Given the description of an element on the screen output the (x, y) to click on. 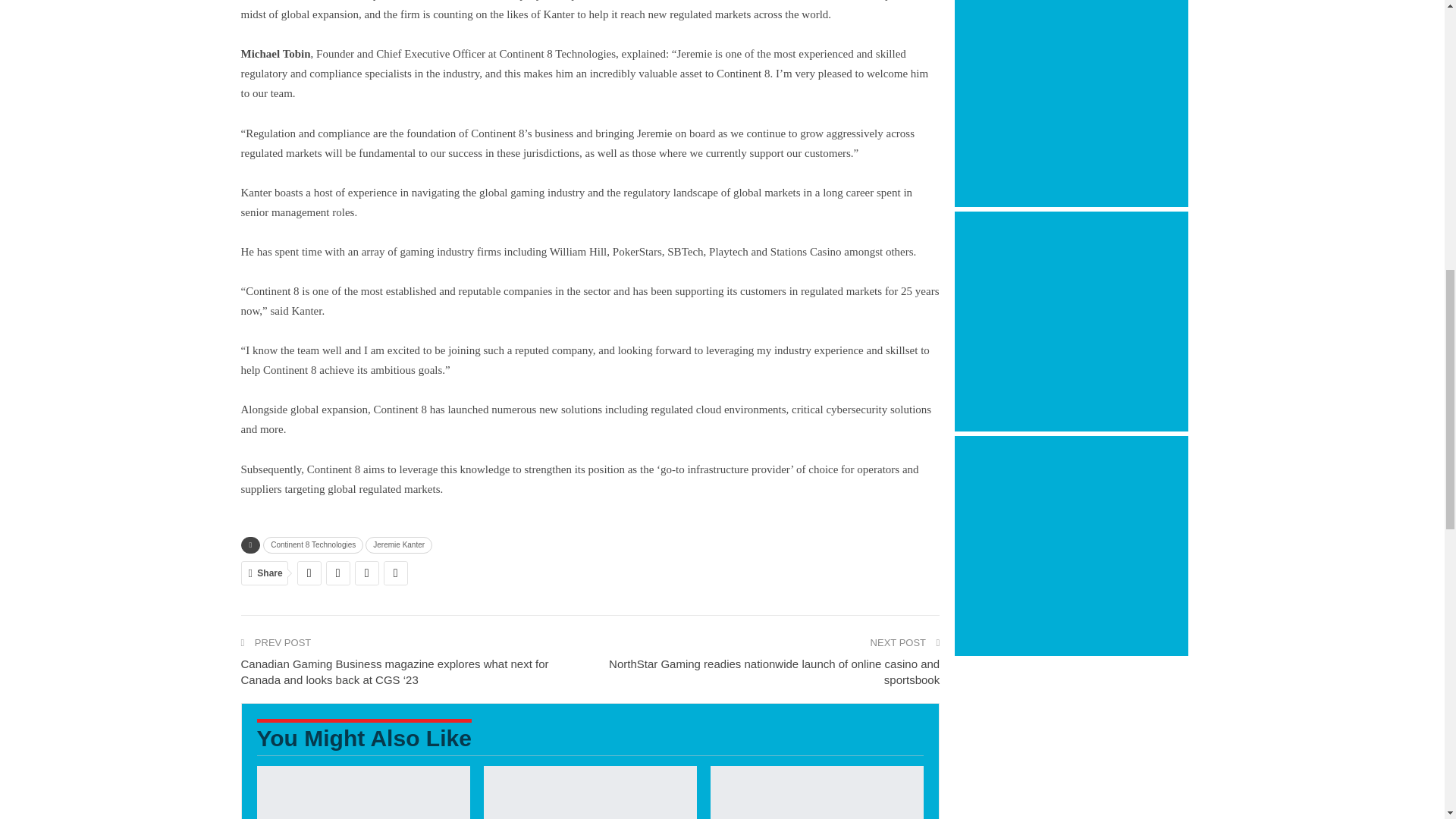
Bluberi opens new Drummondville, Quebec office (816, 792)
